Given the description of an element on the screen output the (x, y) to click on. 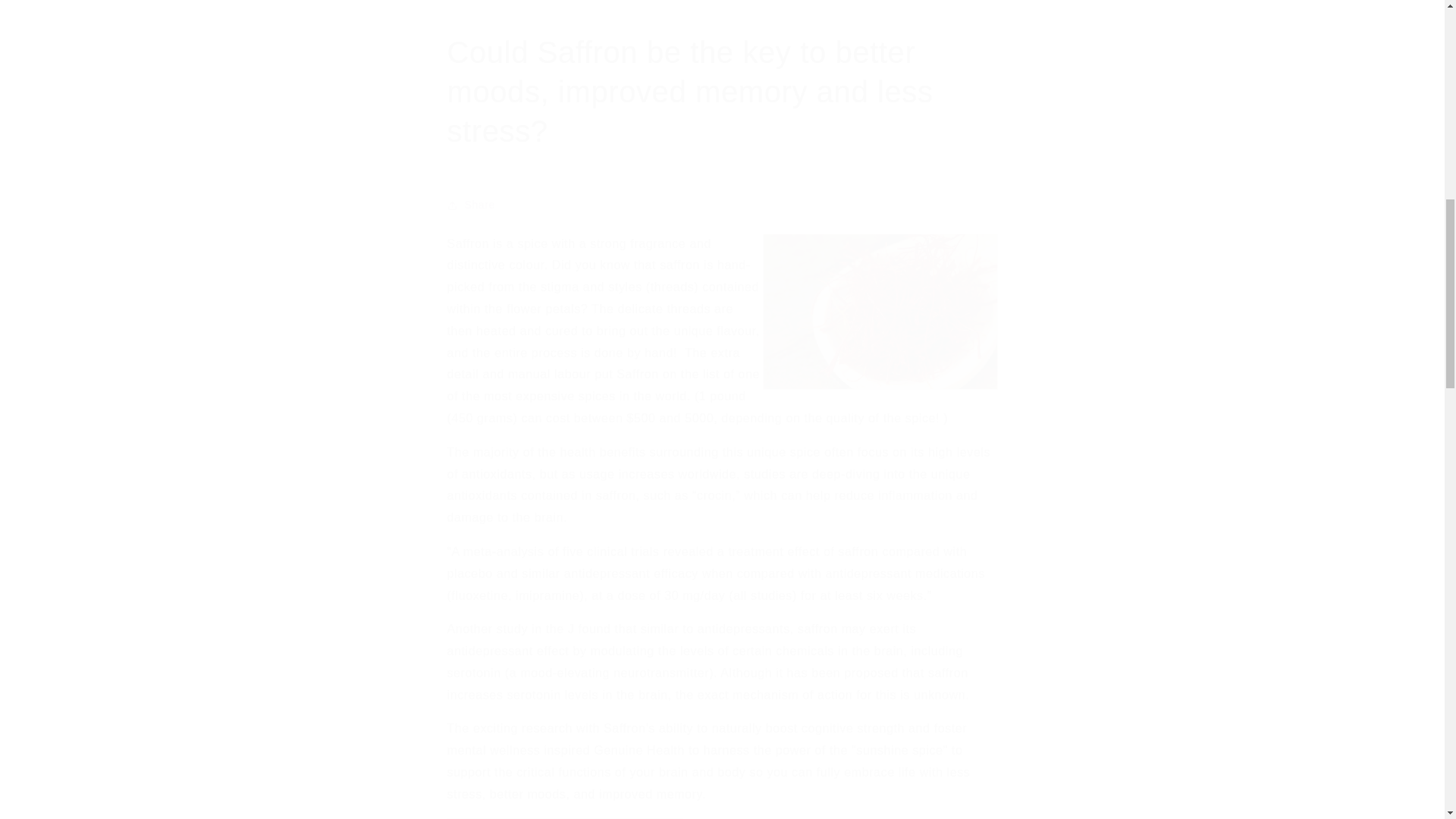
Share (721, 205)
